Given the description of an element on the screen output the (x, y) to click on. 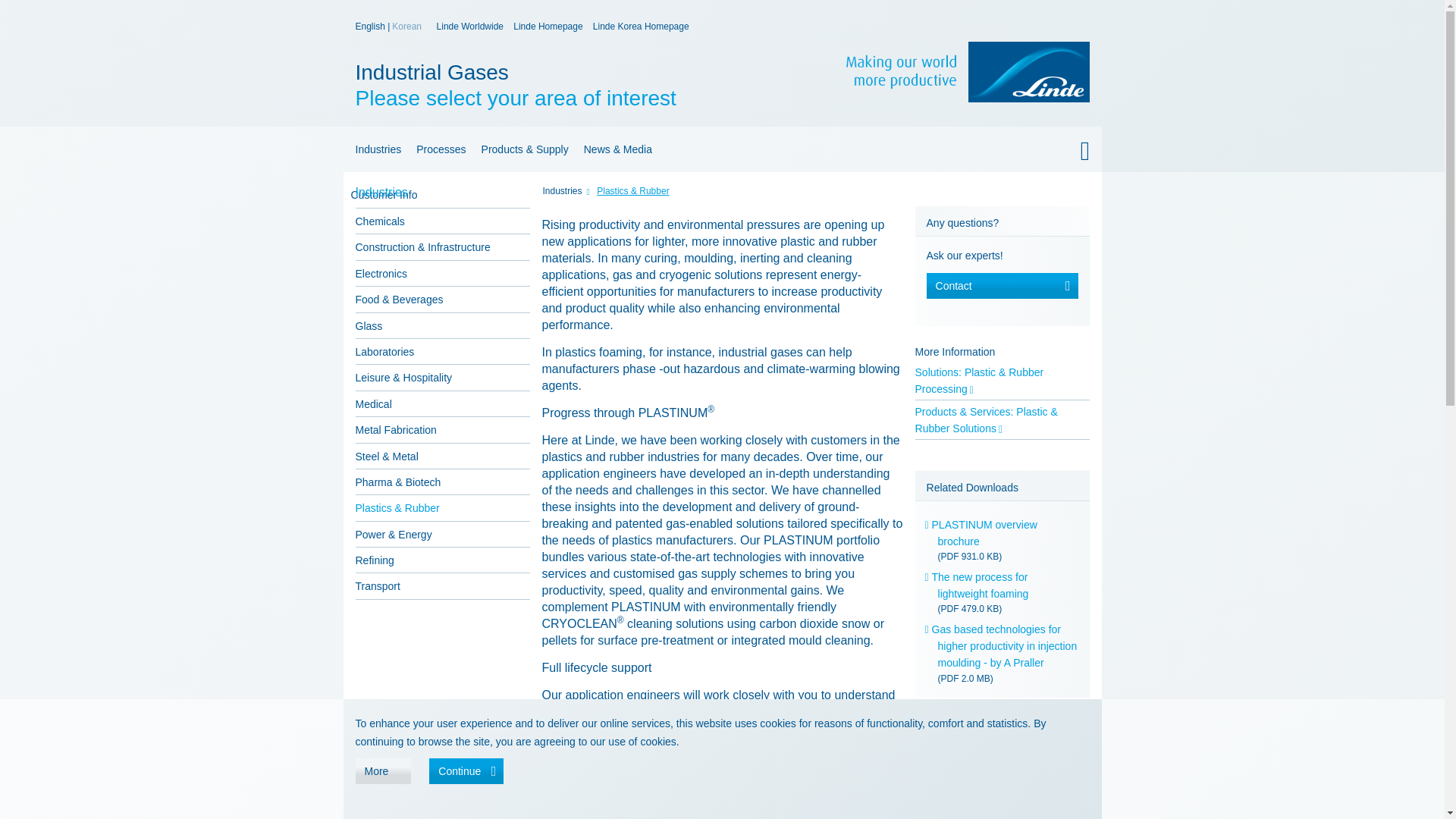
English  (371, 26)
Korean  (407, 26)
Industries (574, 84)
Linde Worldwide (375, 148)
Linde Korea Homepage (469, 26)
Linde Homepage (640, 26)
Industries (547, 26)
